Given the description of an element on the screen output the (x, y) to click on. 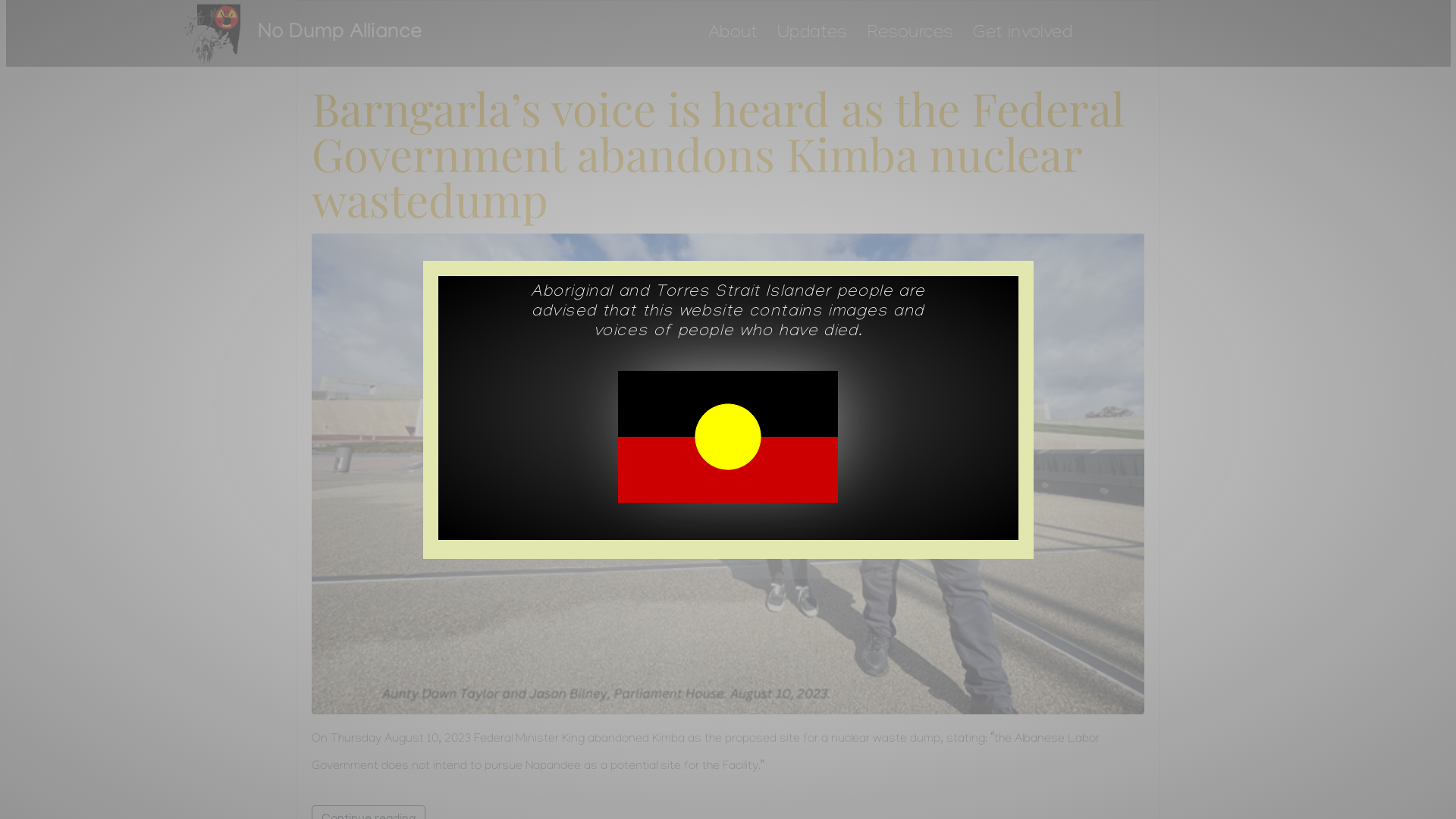
Resources Element type: text (910, 34)
About Element type: text (732, 34)
Updates Element type: text (811, 34)
No Dump Alliance Element type: text (339, 32)
Get involved Element type: text (1022, 34)
